Given the description of an element on the screen output the (x, y) to click on. 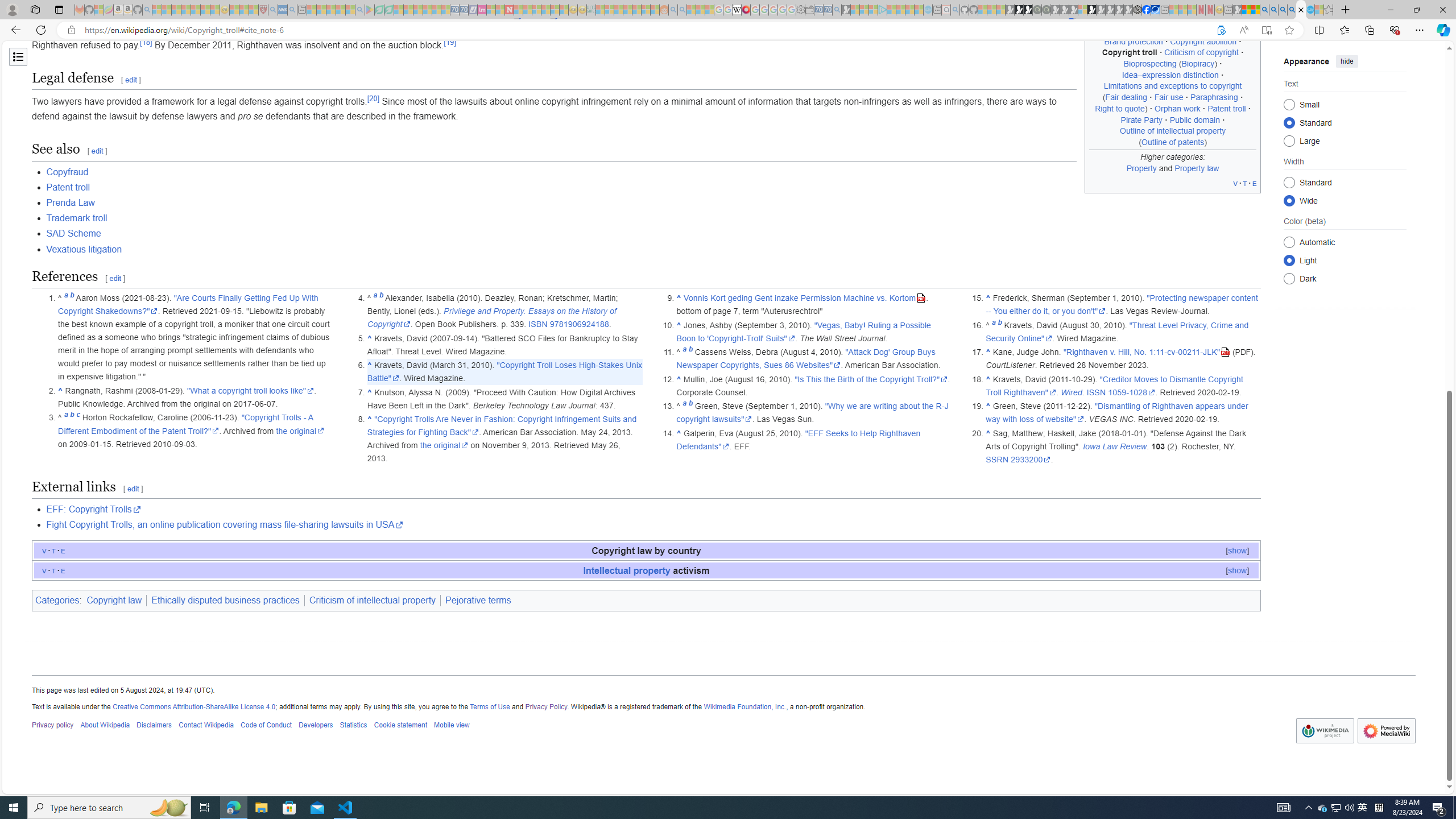
Developers (315, 725)
Vexatious litigation (84, 248)
EFF: Copyright Trolls (653, 509)
google - Search - Sleeping (359, 9)
Settings - Sleeping (799, 9)
Property law (1197, 167)
